Given the description of an element on the screen output the (x, y) to click on. 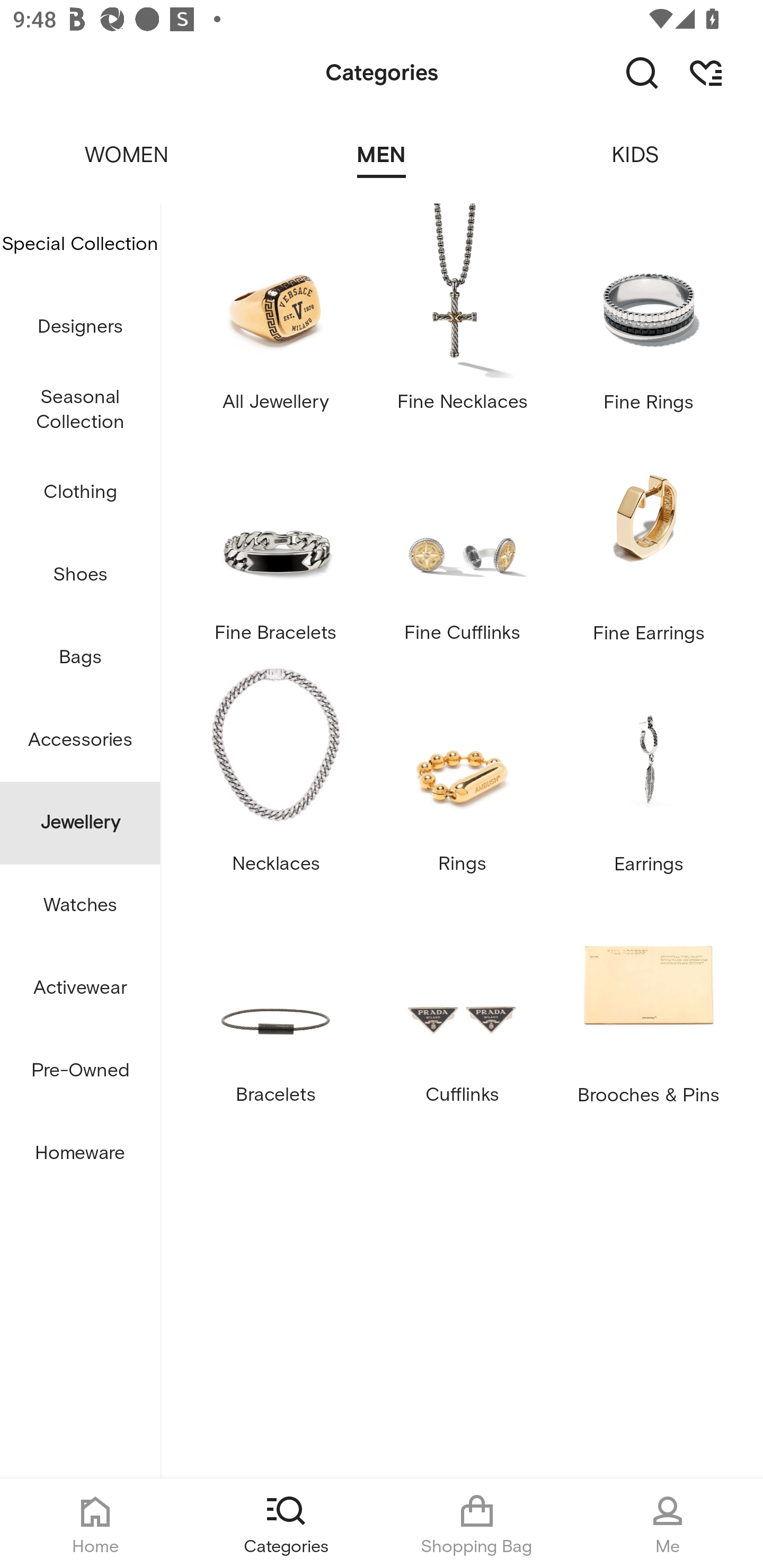
WOMEN (127, 143)
KIDS (635, 143)
Special Collection (80, 244)
All Jewellery (274, 313)
Fine Necklaces (461, 313)
Fine Rings (648, 313)
Designers (80, 326)
Seasonal Collection (80, 409)
Fine Bracelets (274, 544)
Fine Cufflinks (461, 544)
Fine Earrings (648, 544)
Clothing (80, 492)
Shoes (80, 575)
Bags (80, 657)
Necklaces (274, 775)
Rings (461, 775)
Earrings (648, 775)
Accessories (80, 740)
Jewellery (80, 822)
Watches (80, 905)
Bracelets (274, 1006)
Cufflinks (461, 1006)
Brooches & Pins (648, 1006)
Activewear (80, 988)
Pre-Owned (80, 1070)
Homeware (80, 1152)
Home (95, 1523)
Shopping Bag (476, 1523)
Me (667, 1523)
